Given the description of an element on the screen output the (x, y) to click on. 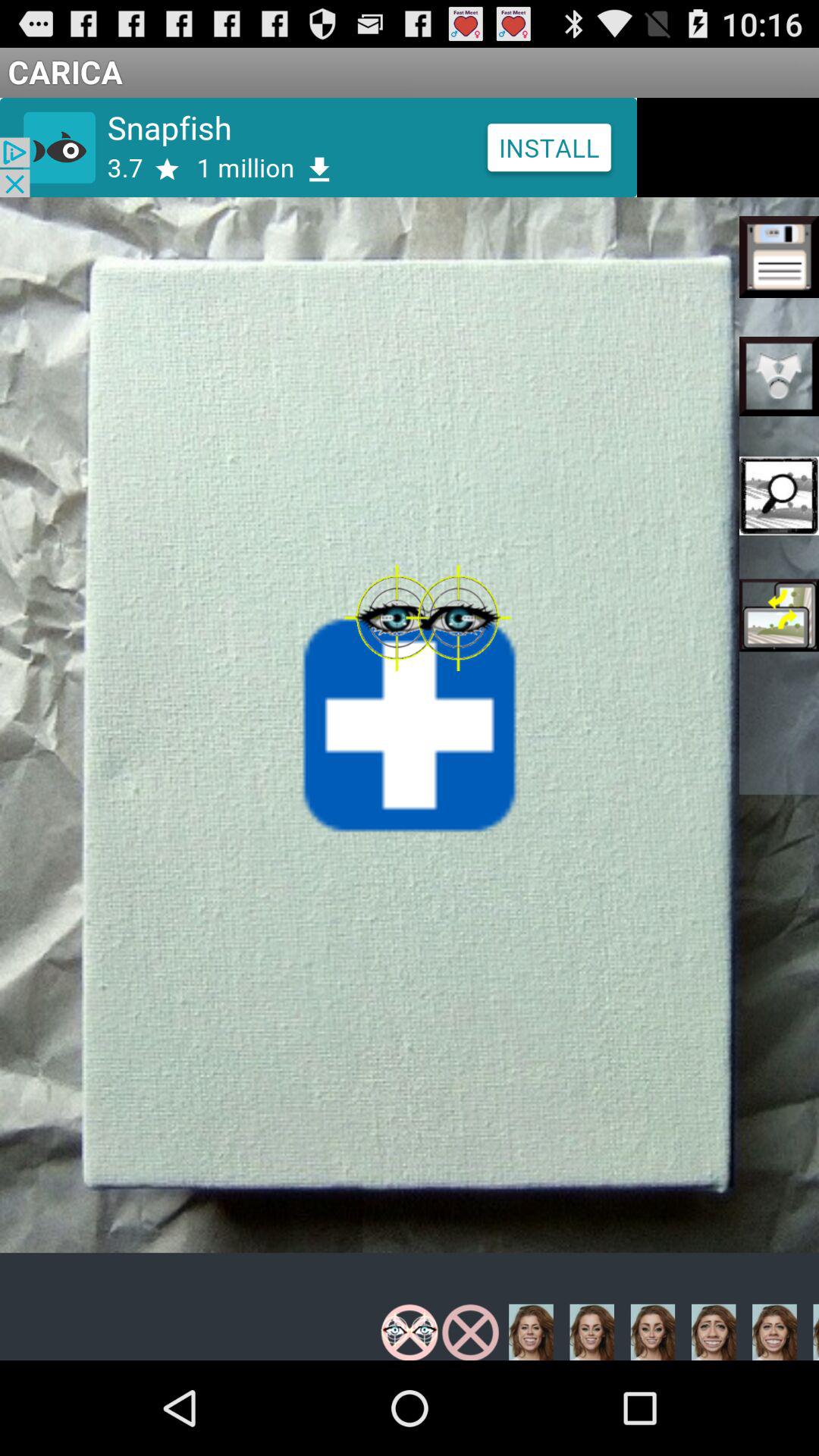
go to first option in the right (779, 256)
click on the option below the search icon (779, 615)
select the symbol at the center of the page (409, 724)
click on the third option on the left of page (779, 495)
select the image which is in the third place form the bottom right corner choosing from right side of the screen (713, 1331)
select the second girl image from right at bottom of page (591, 1331)
click on the second filter which is in the bottom line of the page (470, 1331)
